Given the description of an element on the screen output the (x, y) to click on. 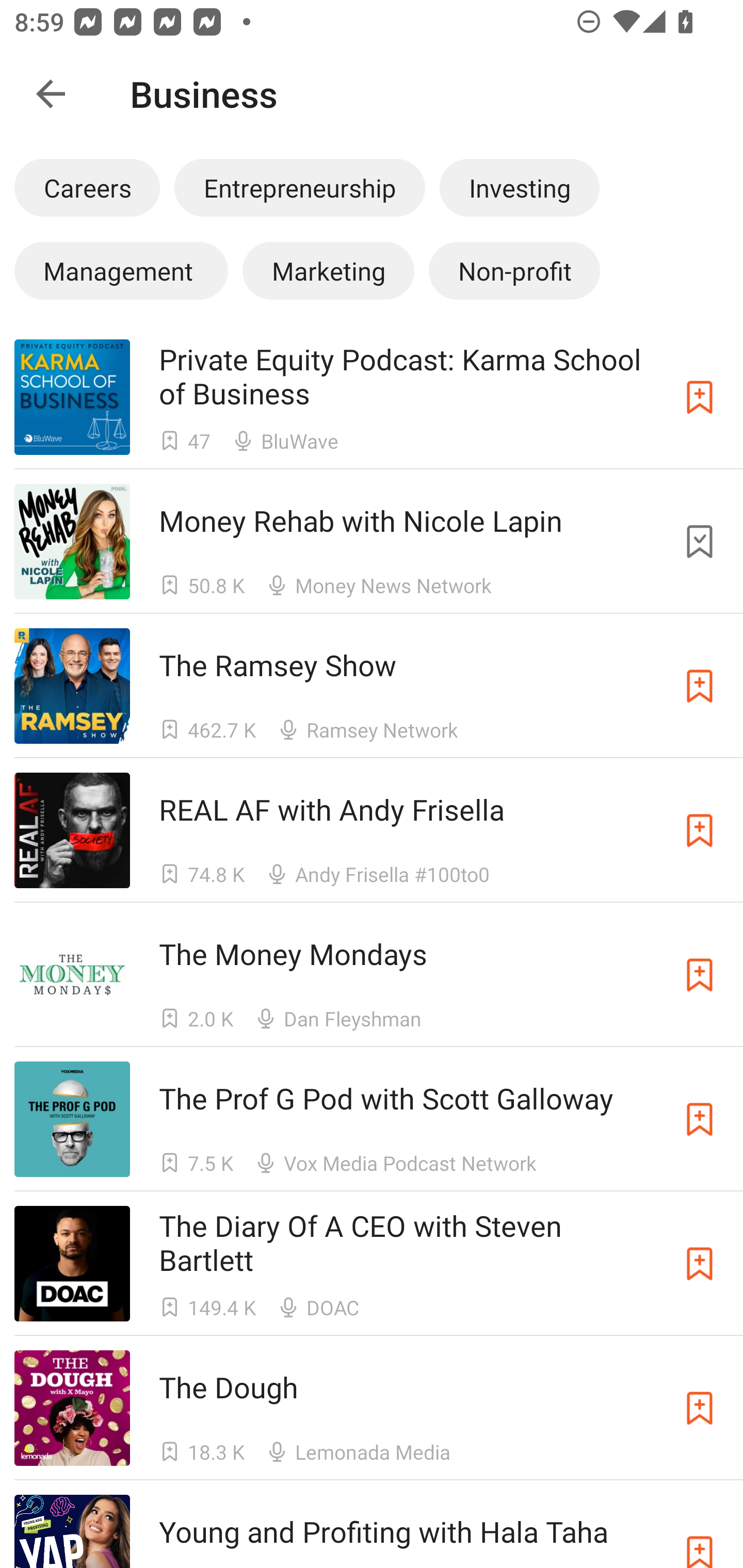
Navigate up (50, 93)
Careers (86, 187)
Entrepreneurship (299, 187)
Investing (519, 187)
Management  (121, 270)
Marketing (328, 270)
Non-profit (514, 270)
Subscribe (699, 396)
Unsubscribe (699, 541)
Subscribe (699, 685)
Subscribe (699, 830)
Subscribe (699, 975)
Subscribe (699, 1119)
Subscribe (699, 1263)
Subscribe (699, 1408)
Subscribe (699, 1531)
